Given the description of an element on the screen output the (x, y) to click on. 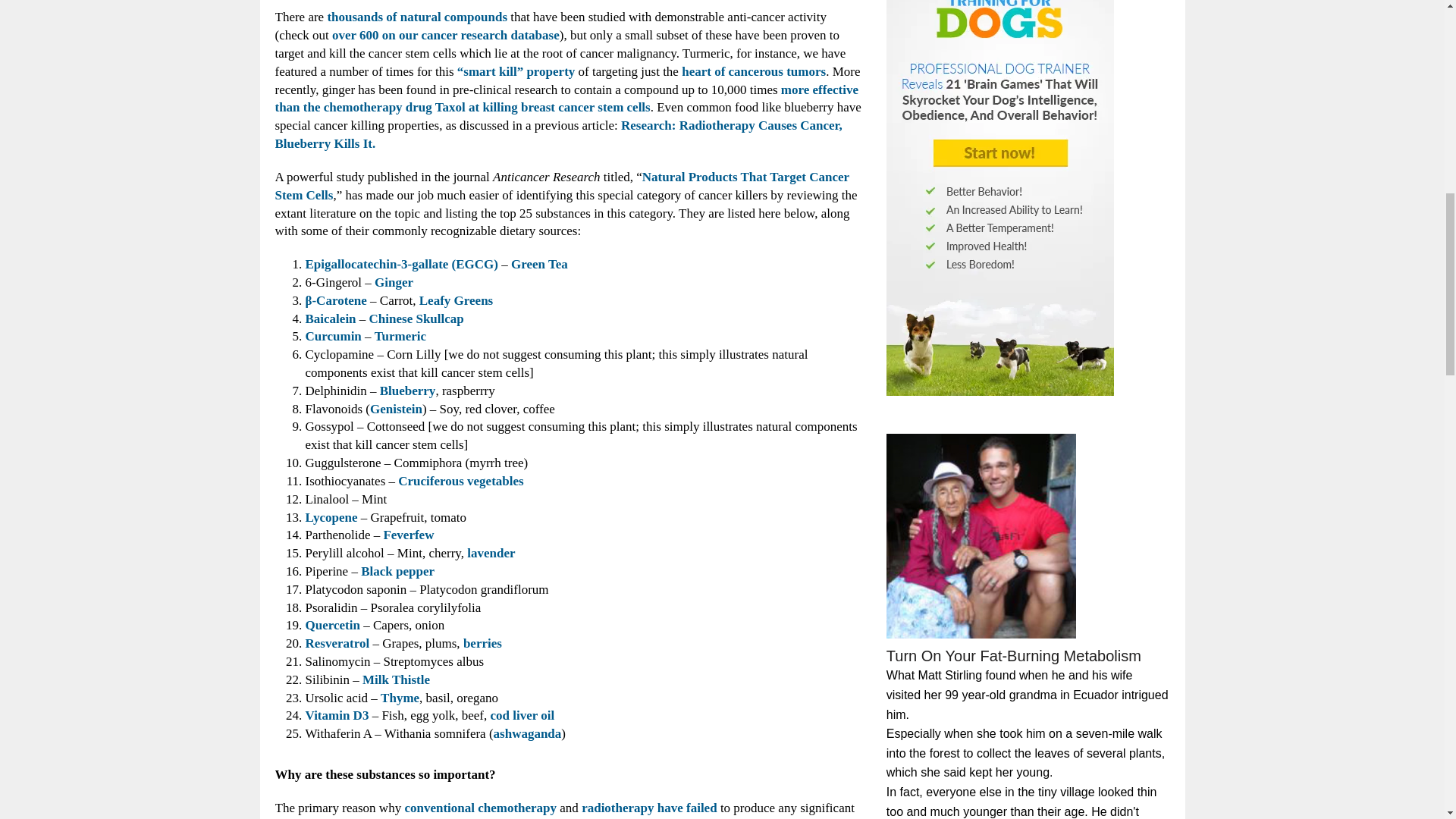
Turn On Your Fat-Burning Metabolism (980, 540)
